Given the description of an element on the screen output the (x, y) to click on. 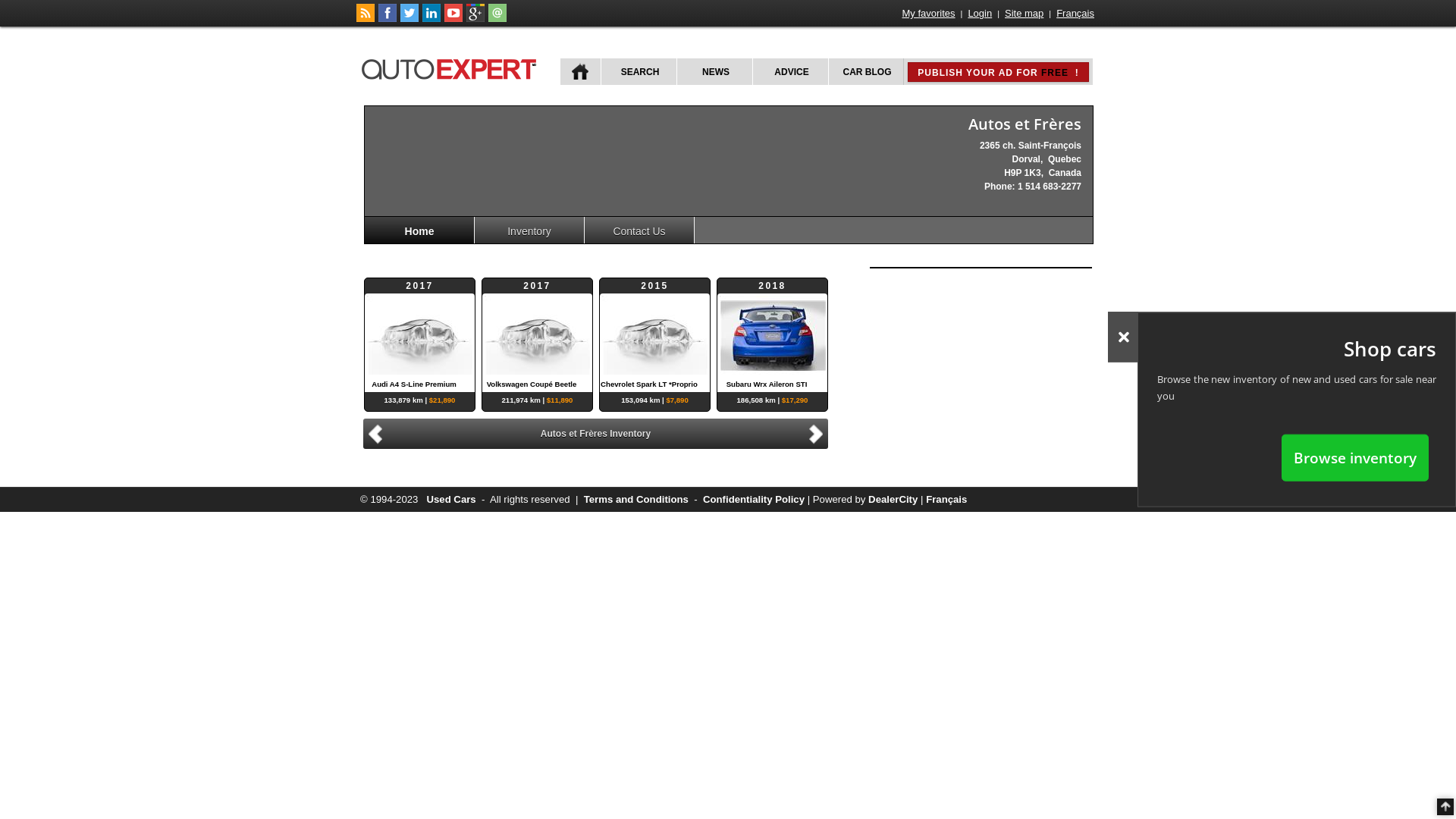
Used Cars Element type: text (450, 499)
Follow autoExpert.ca on Twitter Element type: hover (409, 18)
Inventory Element type: text (529, 229)
Login Element type: text (979, 13)
Browse inventory Element type: text (1354, 457)
CAR BLOG Element type: text (865, 71)
DealerCity Element type: text (892, 499)
ADVICE Element type: text (790, 71)
Terms and Conditions Element type: text (635, 499)
autoExpert.ca Element type: text (451, 66)
Site map Element type: text (1023, 13)
PUBLISH YOUR AD FOR FREE  ! Element type: text (997, 71)
Follow autoExpert.ca on Youtube Element type: hover (453, 18)
Contact Us Element type: text (639, 229)
Previous Element type: hover (373, 433)
Follow car news on autoExpert.ca Element type: hover (365, 18)
Follow Publications Le Guide Inc. on LinkedIn Element type: hover (431, 18)
HOME Element type: text (580, 71)
Confidentiality Policy Element type: text (753, 499)
My favorites Element type: text (928, 13)
NEWS Element type: text (714, 71)
Home Element type: text (419, 229)
Contact autoExpert.ca Element type: hover (497, 18)
Follow autoExpert.ca on Google Plus Element type: hover (475, 18)
Next Element type: hover (818, 432)
SEARCH Element type: text (638, 71)
Follow autoExpert.ca on Facebook Element type: hover (387, 18)
